Given the description of an element on the screen output the (x, y) to click on. 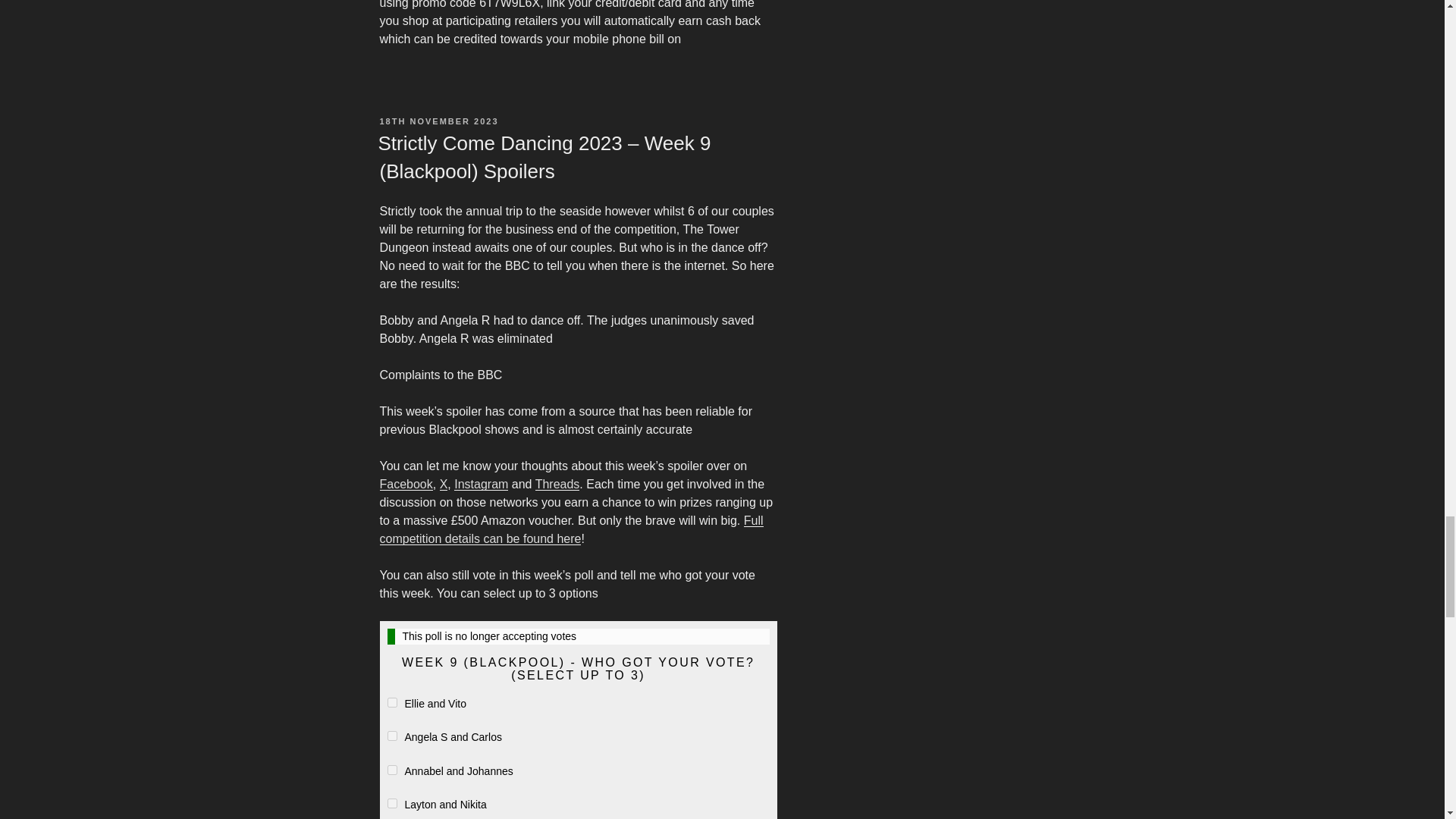
856 (391, 803)
864 (391, 702)
859 (391, 736)
867 (391, 769)
